Given the description of an element on the screen output the (x, y) to click on. 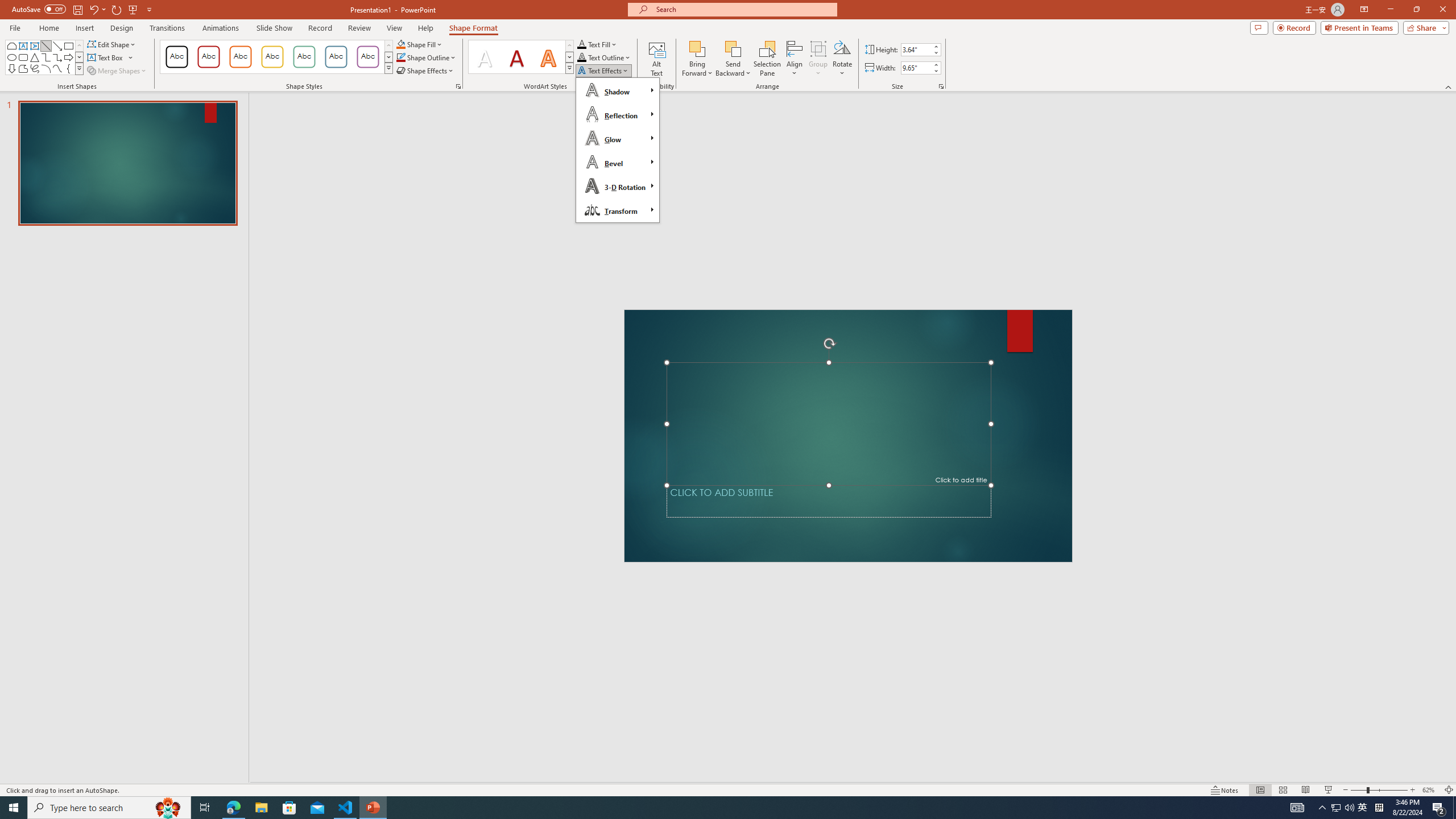
Bring Forward (697, 48)
Fill: White, Text color 1; Shadow (484, 56)
Colored Outline - Dark Red, Accent 1 (208, 56)
